Given the description of an element on the screen output the (x, y) to click on. 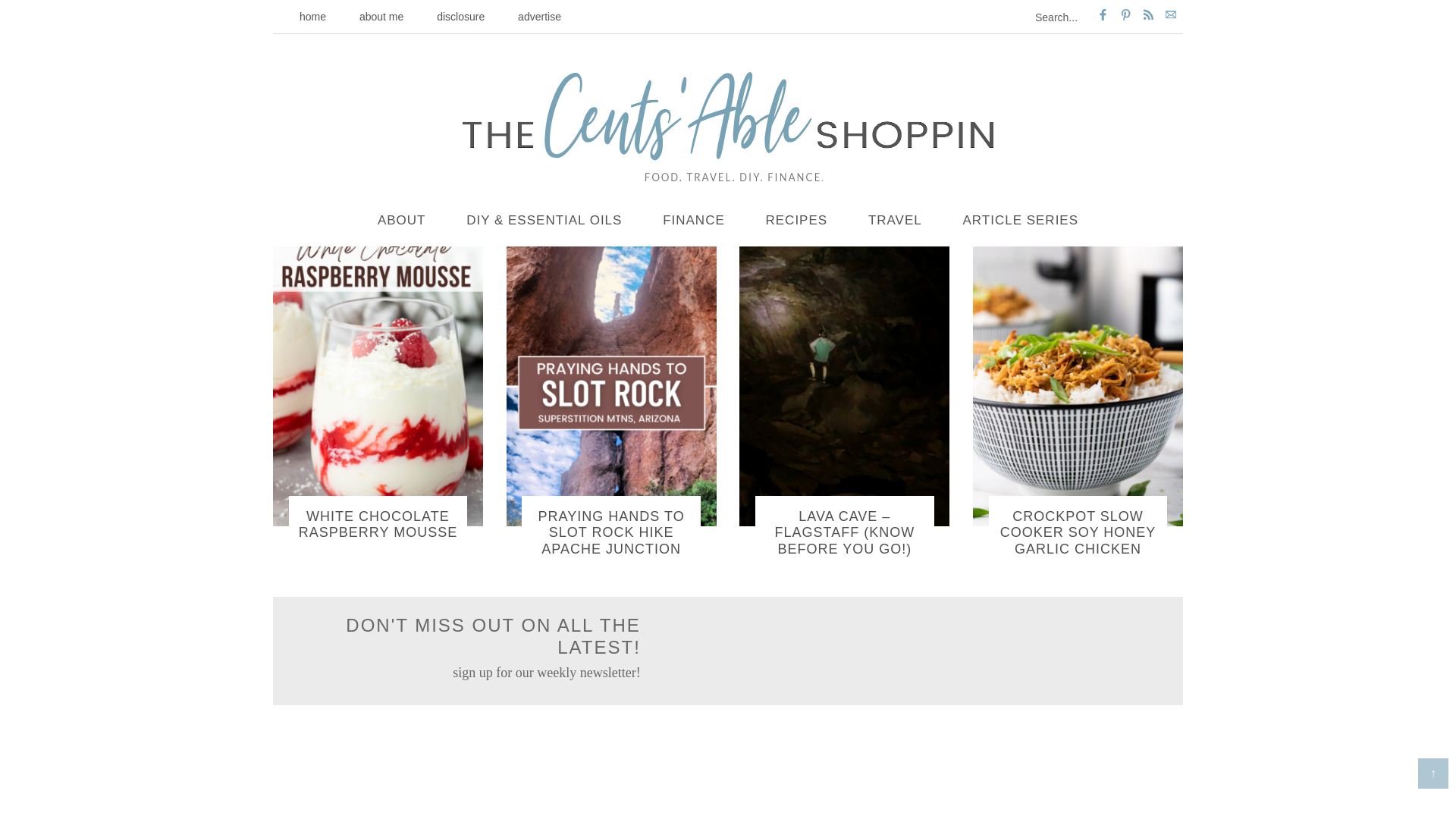
White Chocolate Raspberry Mousse (377, 524)
advertise (539, 16)
about me (381, 16)
Crockpot Slow Cooker Soy Honey Garlic Chicken (1078, 532)
FINANCE (693, 220)
Praying Hands to Slot Rock Hike Apache Junction (611, 532)
PRAYING HANDS TO SLOT ROCK HIKE APACHE JUNCTION (611, 532)
THE CENTSABLE SHOPPIN (727, 126)
TRAVEL (895, 220)
RECIPES (796, 220)
home (311, 16)
disclosure (460, 16)
ARTICLE SERIES (1019, 220)
ABOUT (401, 220)
WHITE CHOCOLATE RASPBERRY MOUSSE (377, 524)
